Given the description of an element on the screen output the (x, y) to click on. 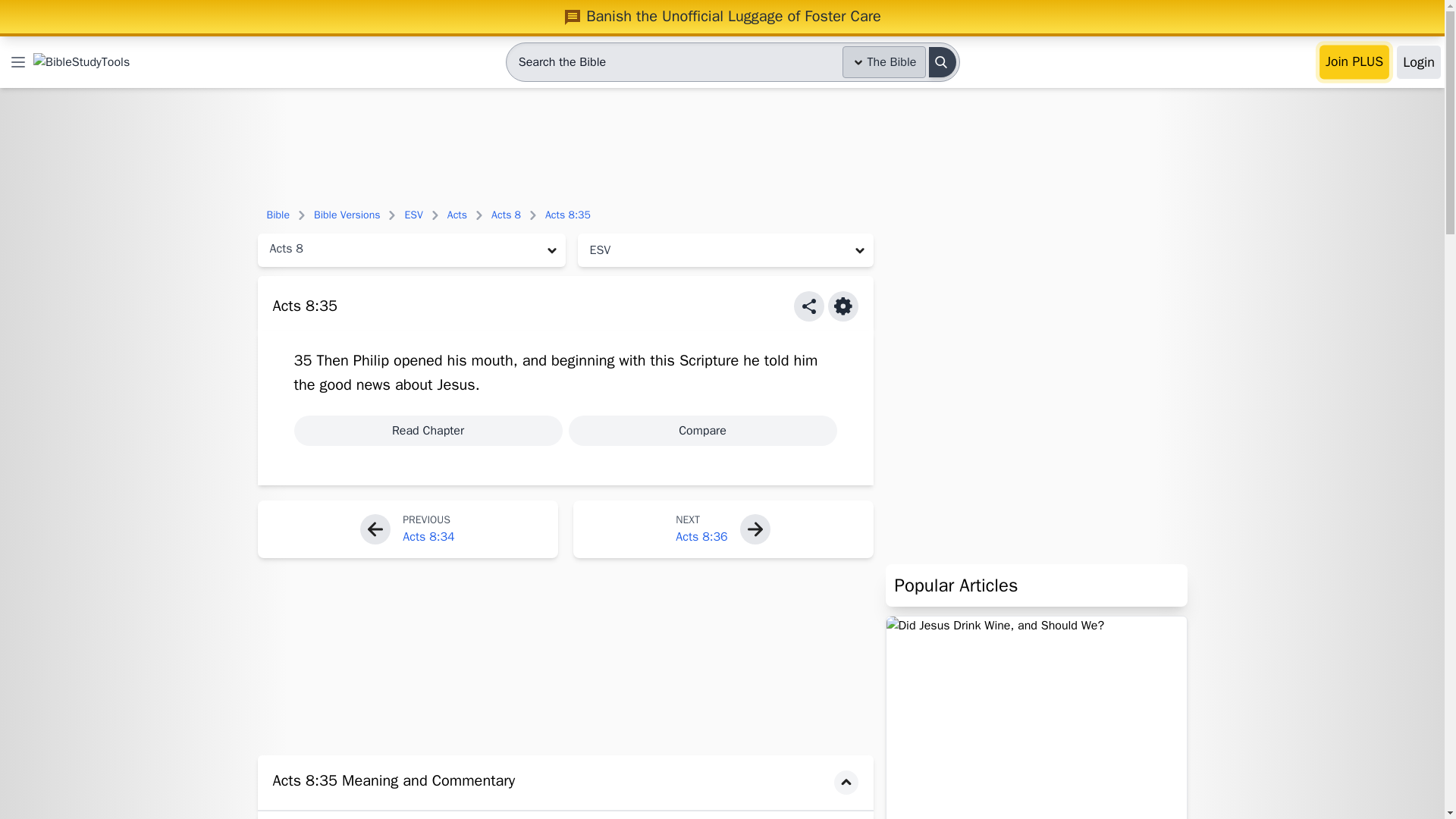
The Bible (884, 61)
Join PLUS (1354, 62)
Banish the Unofficial Luggage of Foster Care (721, 16)
Scripture Settings (843, 306)
Login (1418, 62)
